Given the description of an element on the screen output the (x, y) to click on. 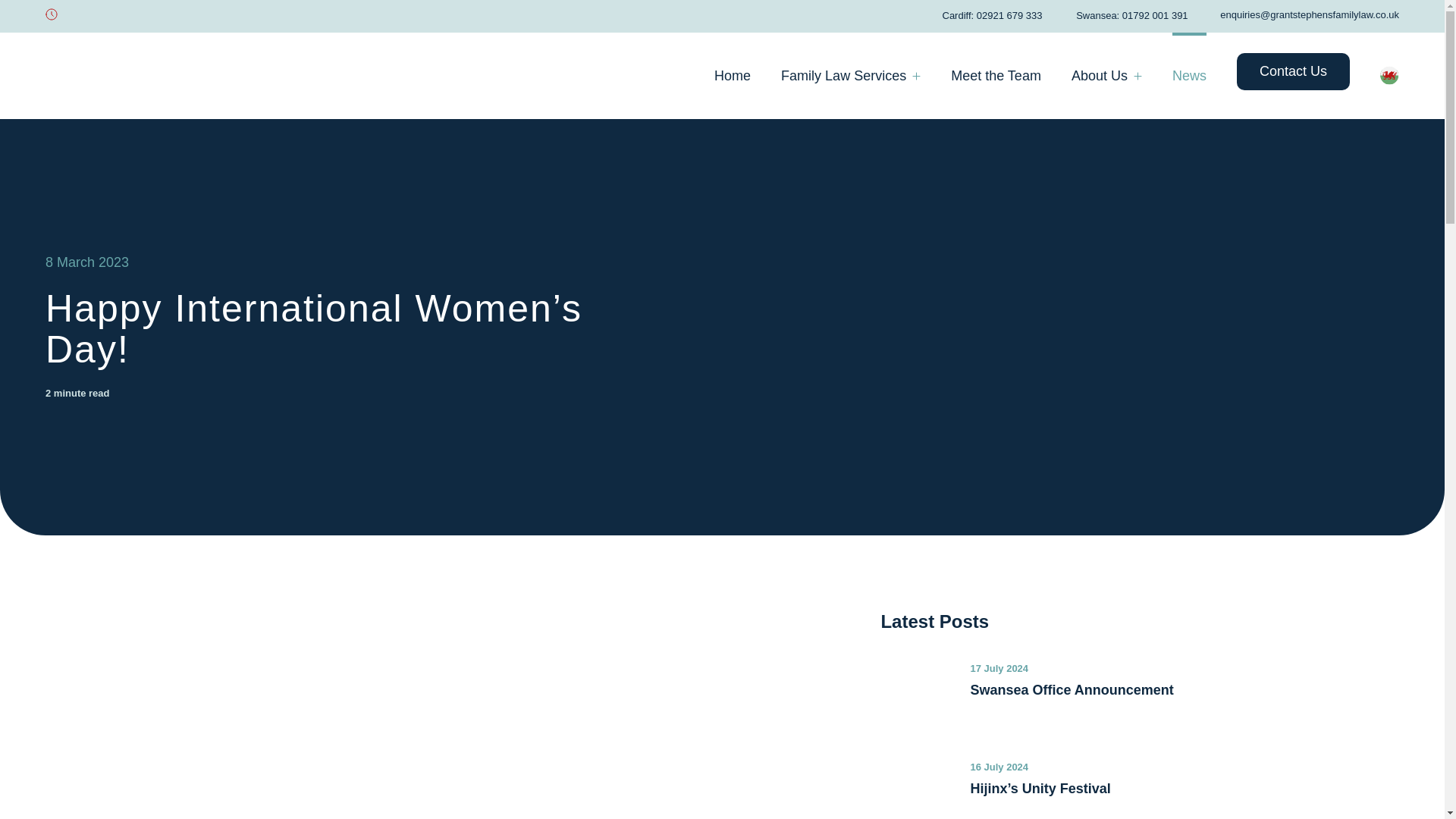
Clock Icon (50, 13)
Family Law Services (850, 75)
Cardiff: (952, 15)
Nel Roberts - headshot (309, 740)
Swansea: 01792 001 391 (1125, 15)
02921 679 333 (1009, 15)
